Given the description of an element on the screen output the (x, y) to click on. 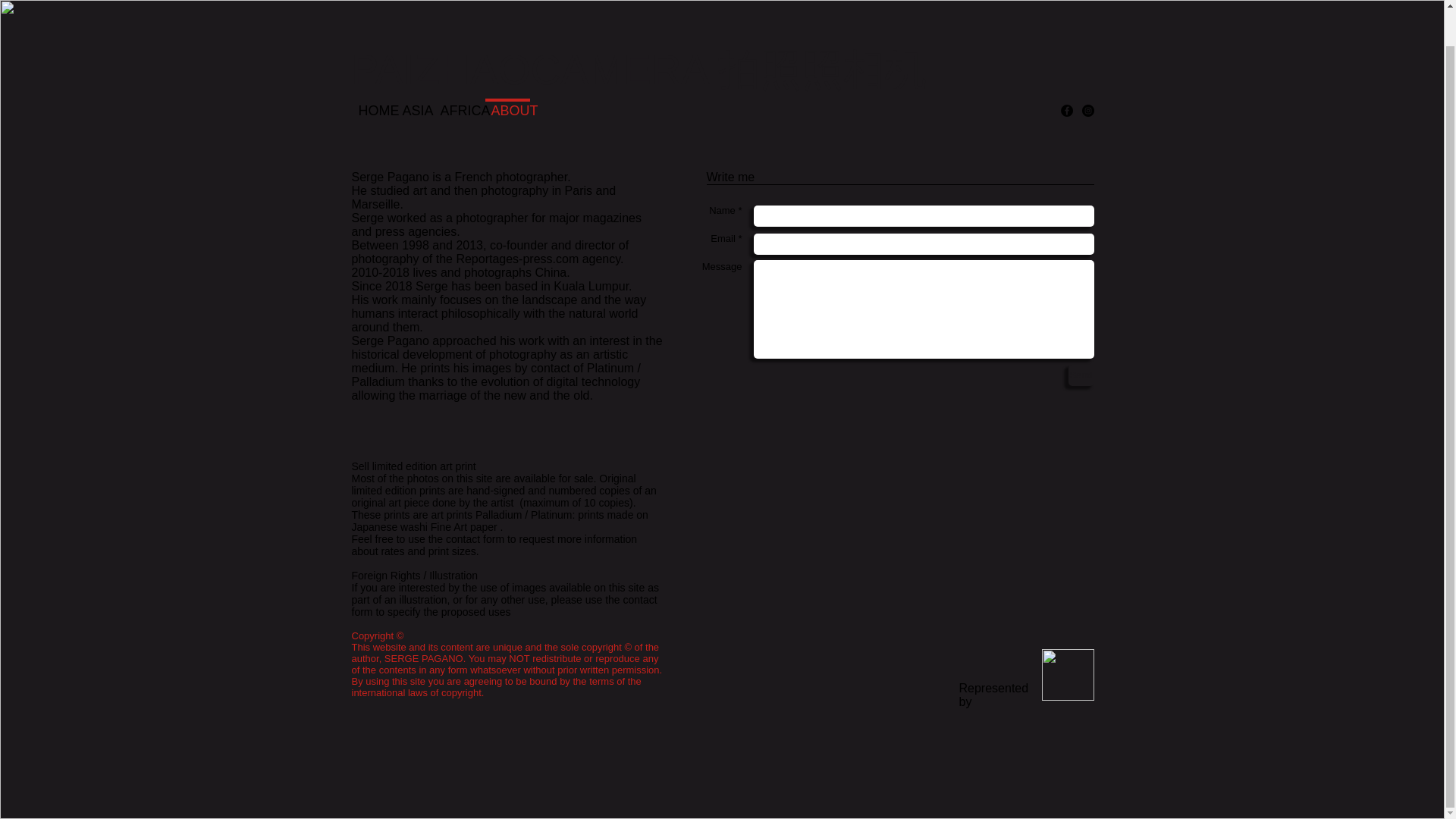
AFRICA (457, 103)
HOME (372, 103)
ABOUT (507, 102)
ASIA (413, 103)
Send (1080, 374)
